Given the description of an element on the screen output the (x, y) to click on. 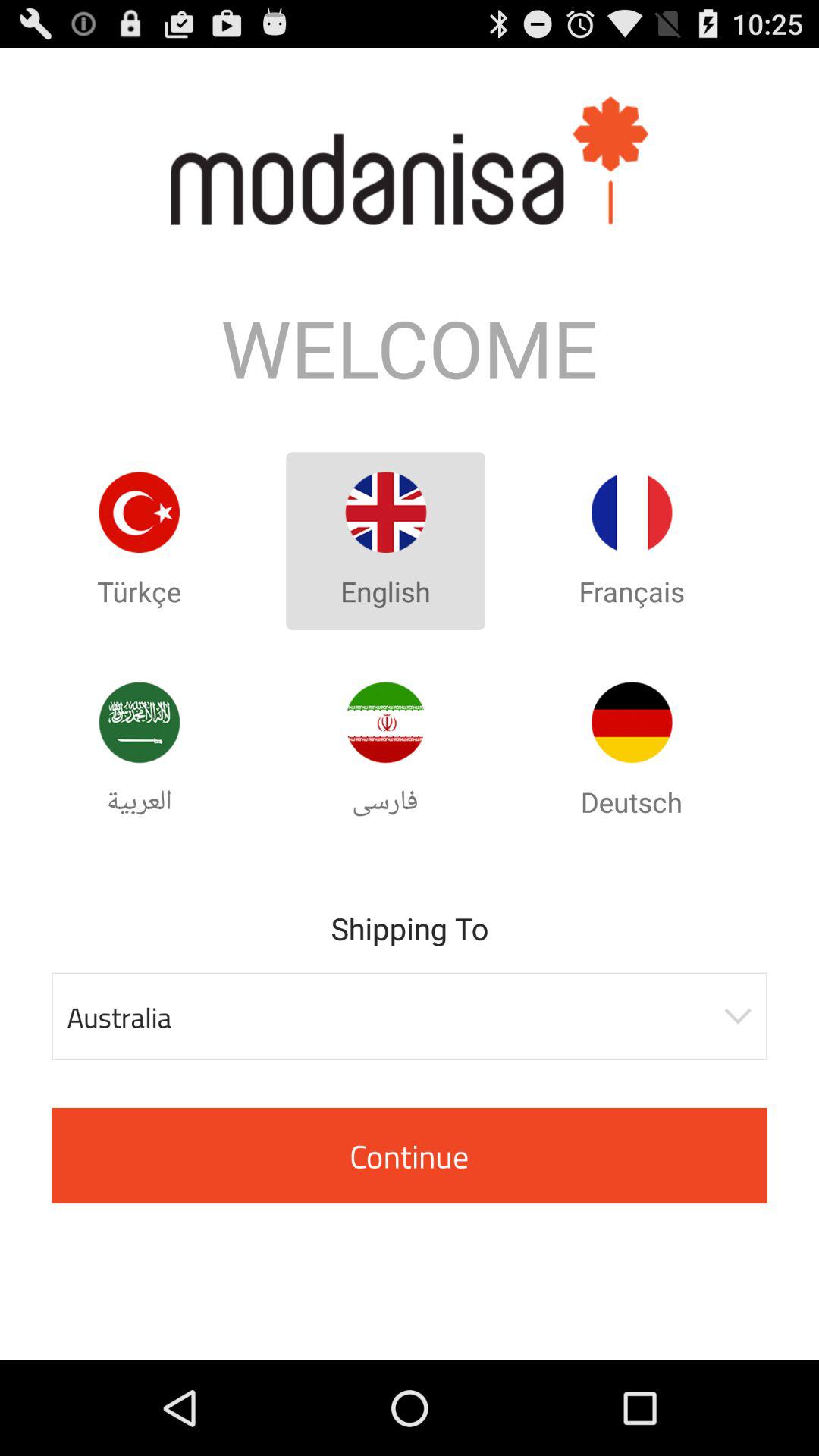
switch to hebrew (385, 722)
